Given the description of an element on the screen output the (x, y) to click on. 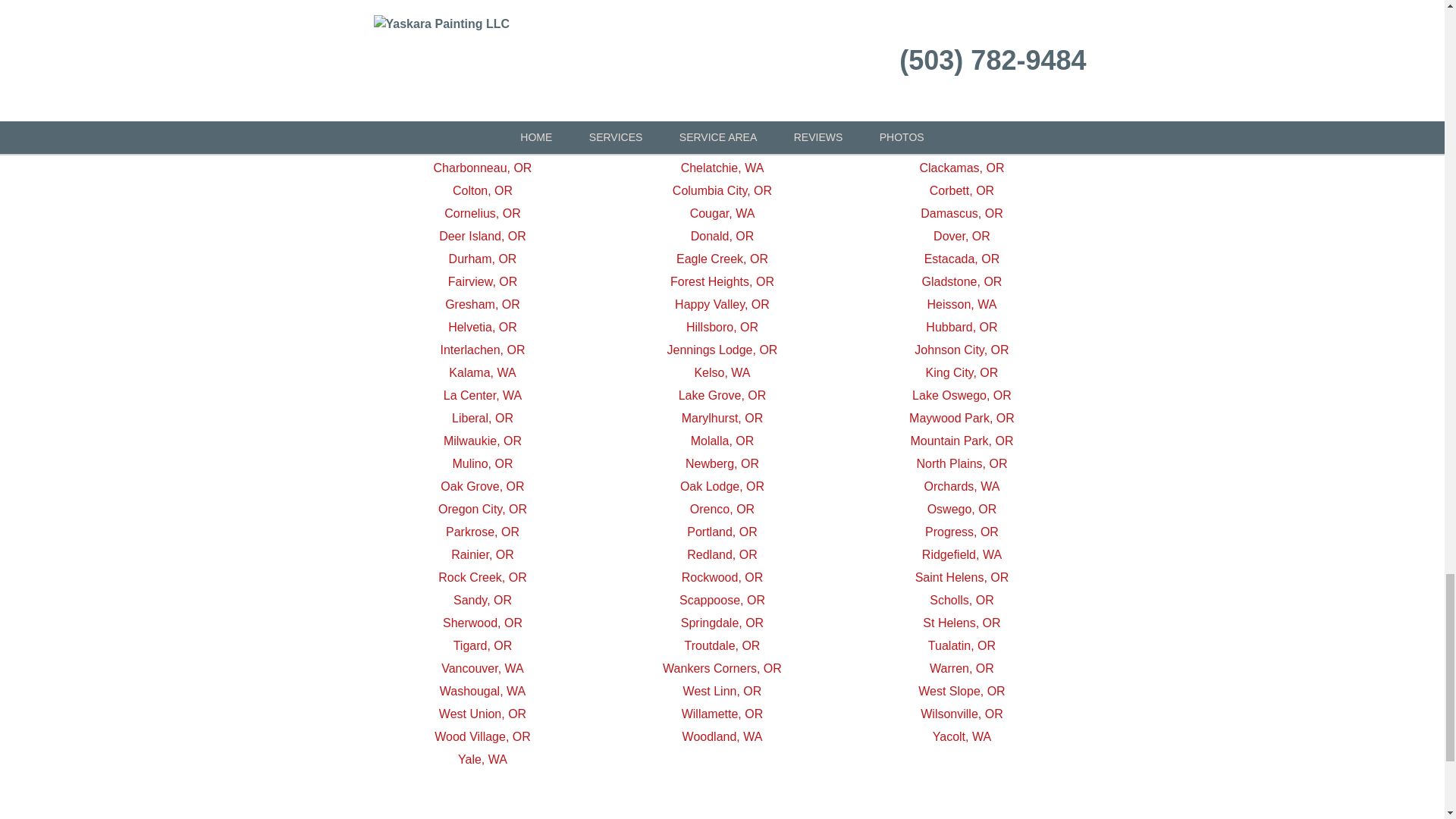
Aurora, OR (482, 53)
Ariel, WA (961, 31)
Beaverton, OR (722, 76)
Beavercreek, OR (482, 76)
Battle Ground, WA (961, 53)
Barlow, OR (721, 53)
Amboy, WA (722, 31)
Aloha, OR (482, 31)
